Given the description of an element on the screen output the (x, y) to click on. 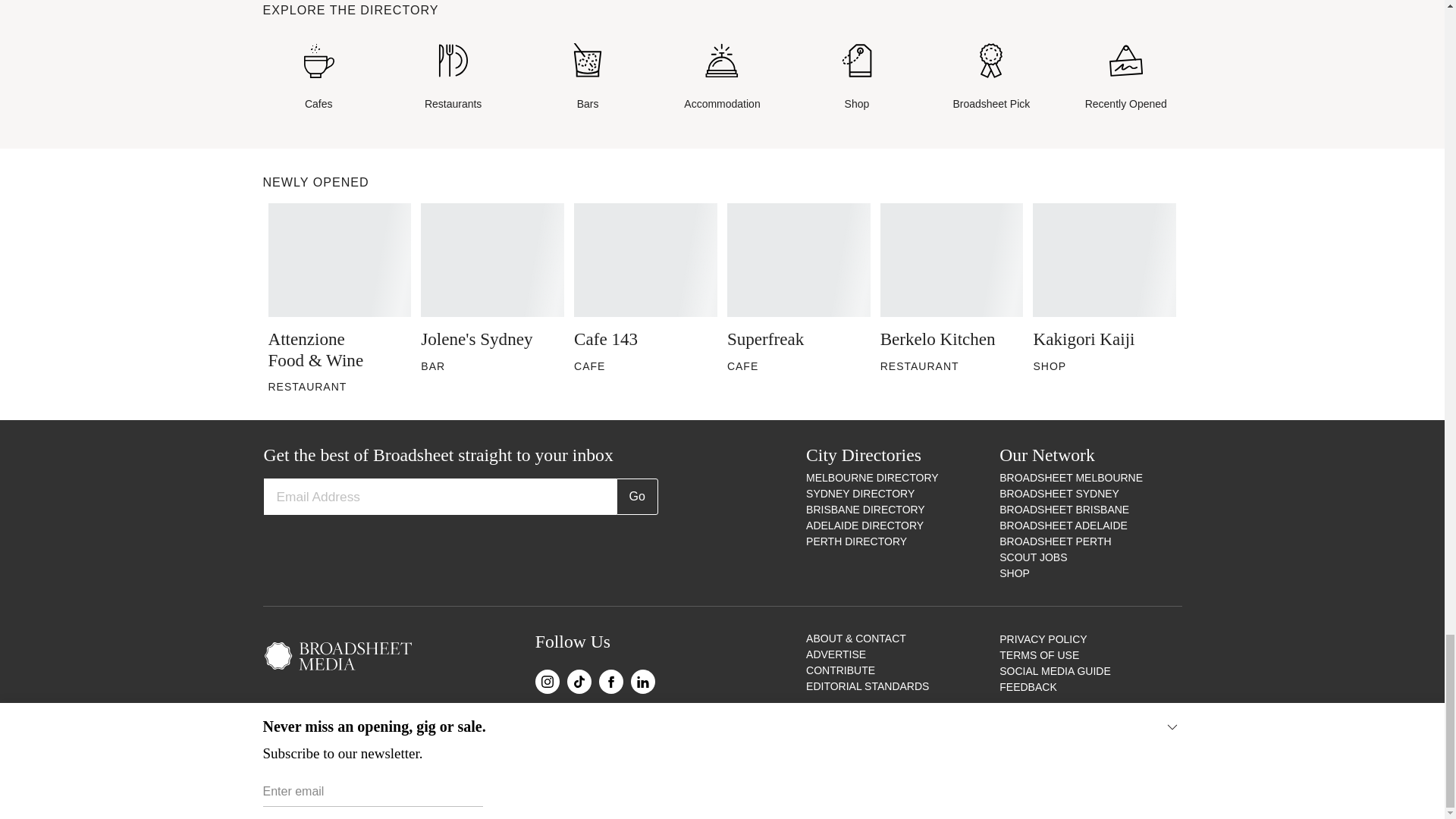
Accommodation (721, 77)
Cafes (318, 77)
Restaurants (452, 77)
Shop (856, 77)
Broadsheet Pick (991, 77)
Recently Opened (1125, 77)
Bars (587, 77)
